Given the description of an element on the screen output the (x, y) to click on. 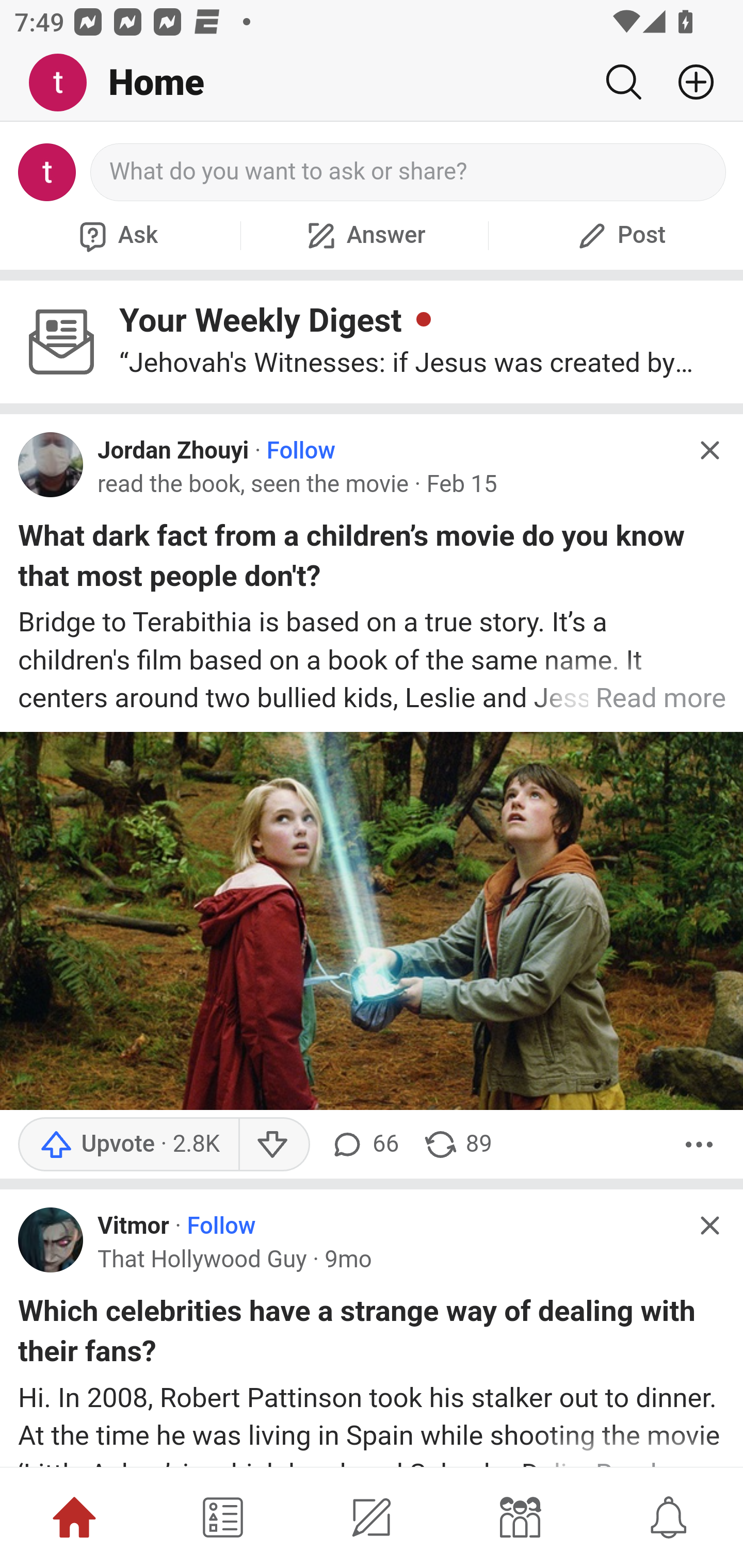
Me Home Search Add (371, 82)
Me (64, 83)
Search (623, 82)
Add (688, 82)
